Given the description of an element on the screen output the (x, y) to click on. 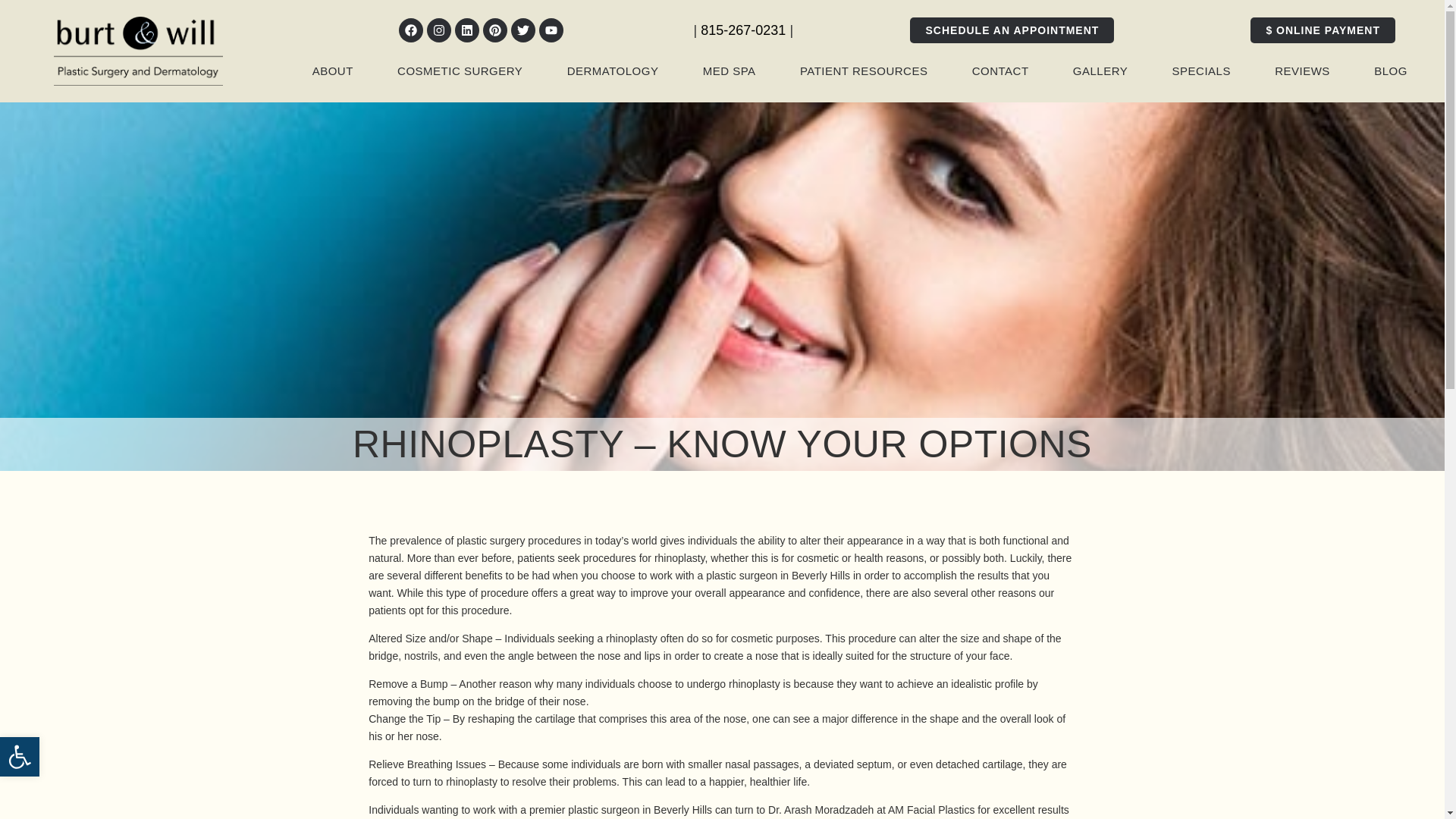
Accessibility Tools (19, 756)
815-267-0231 (743, 29)
COSMETIC SURGERY (459, 70)
SCHEDULE AN APPOINTMENT (1011, 30)
Accessibility Tools (19, 756)
ABOUT (332, 70)
